Given the description of an element on the screen output the (x, y) to click on. 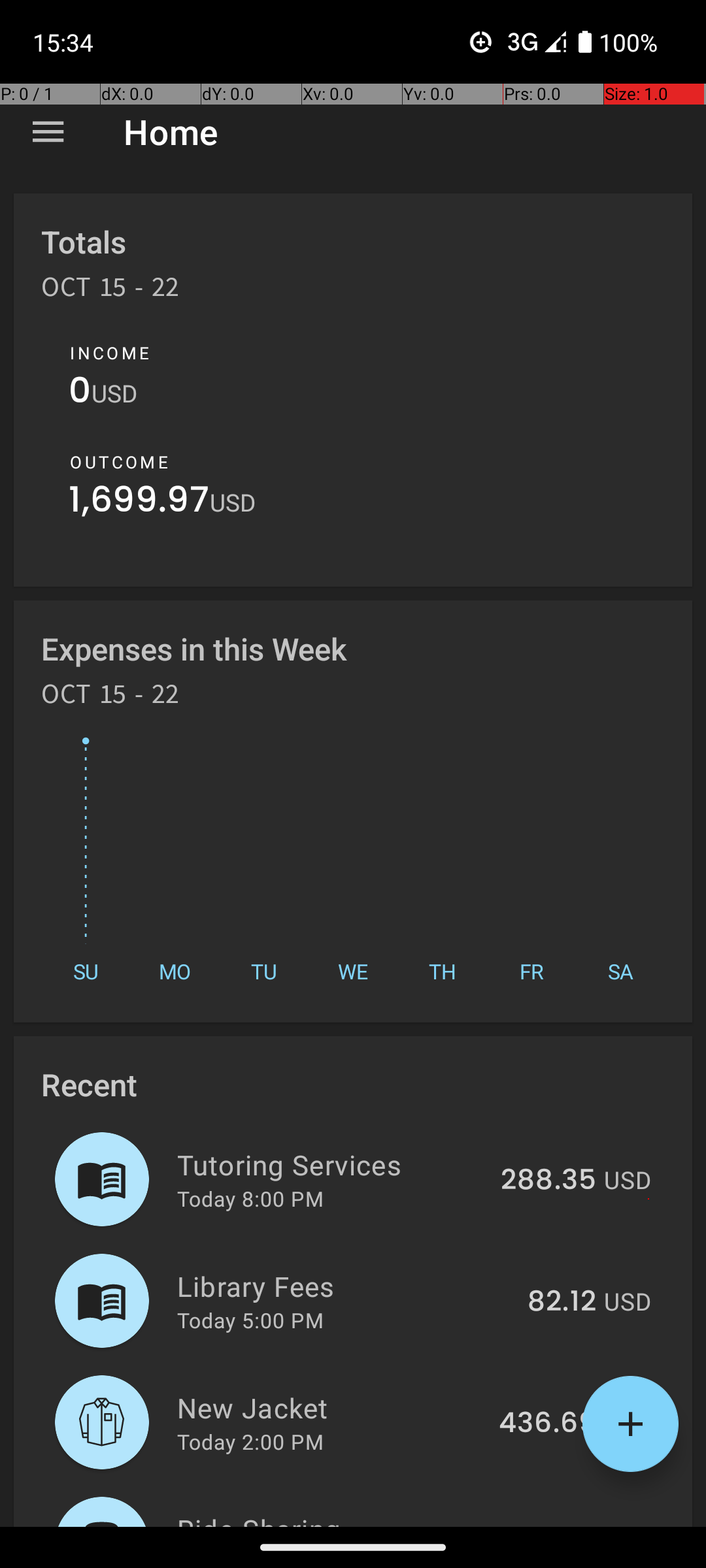
1,699.97 Element type: android.widget.TextView (138, 502)
Tutoring Services Element type: android.widget.TextView (331, 1164)
Today 8:00 PM Element type: android.widget.TextView (250, 1198)
288.35 Element type: android.widget.TextView (548, 1180)
Library Fees Element type: android.widget.TextView (344, 1285)
Today 5:00 PM Element type: android.widget.TextView (250, 1320)
82.12 Element type: android.widget.TextView (561, 1301)
New Jacket Element type: android.widget.TextView (330, 1407)
Today 2:00 PM Element type: android.widget.TextView (250, 1441)
436.69 Element type: android.widget.TextView (547, 1423)
Ride-Sharing Element type: android.widget.TextView (333, 1518)
405.15 Element type: android.widget.TextView (550, 1524)
